Given the description of an element on the screen output the (x, y) to click on. 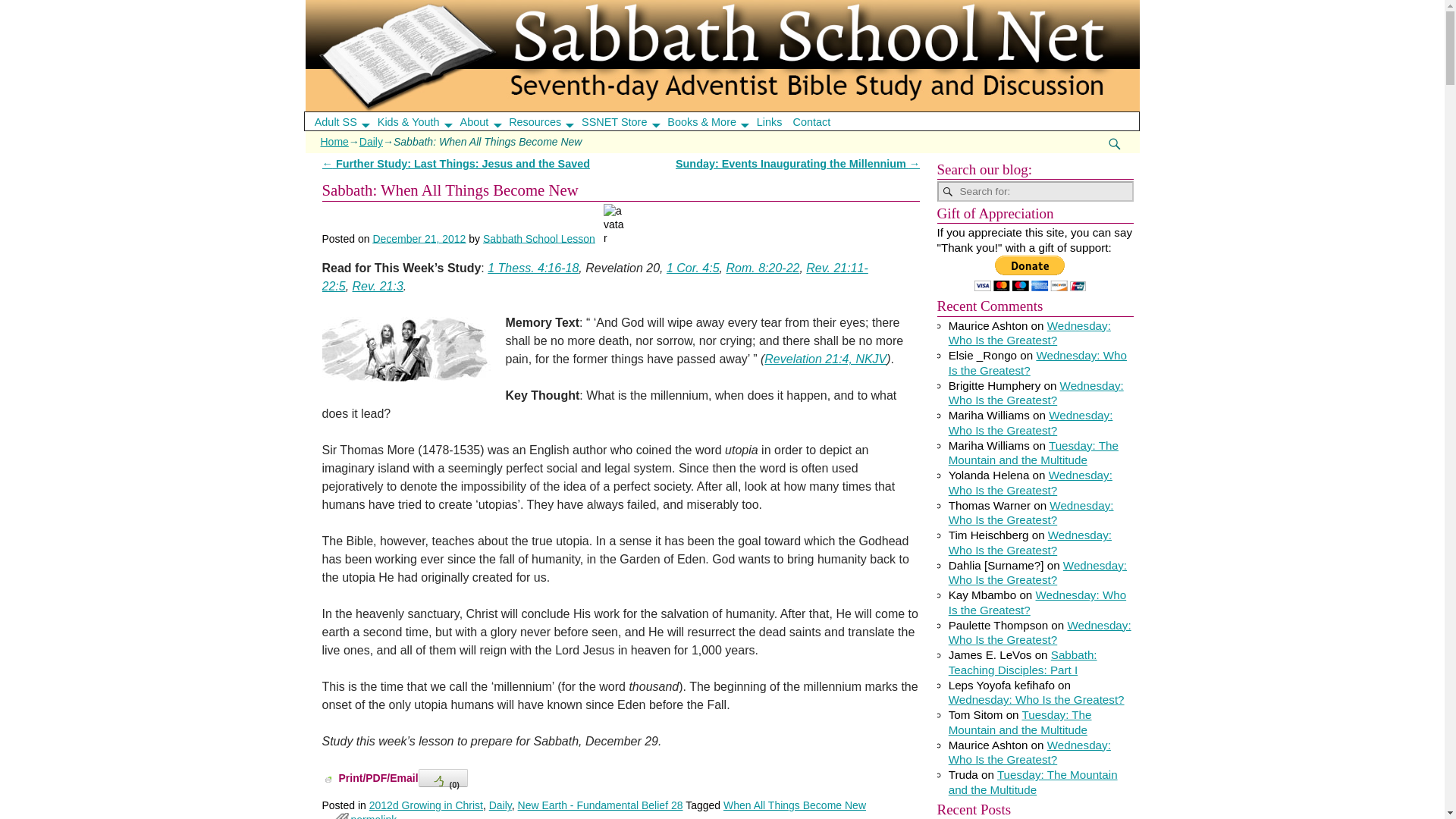
Permalink to Sabbath: When All Things Become New (373, 816)
6:00 am (418, 237)
Adult SS (346, 121)
Resources (545, 121)
View all posts by Sabbath School Lesson (539, 237)
About (485, 121)
